Given the description of an element on the screen output the (x, y) to click on. 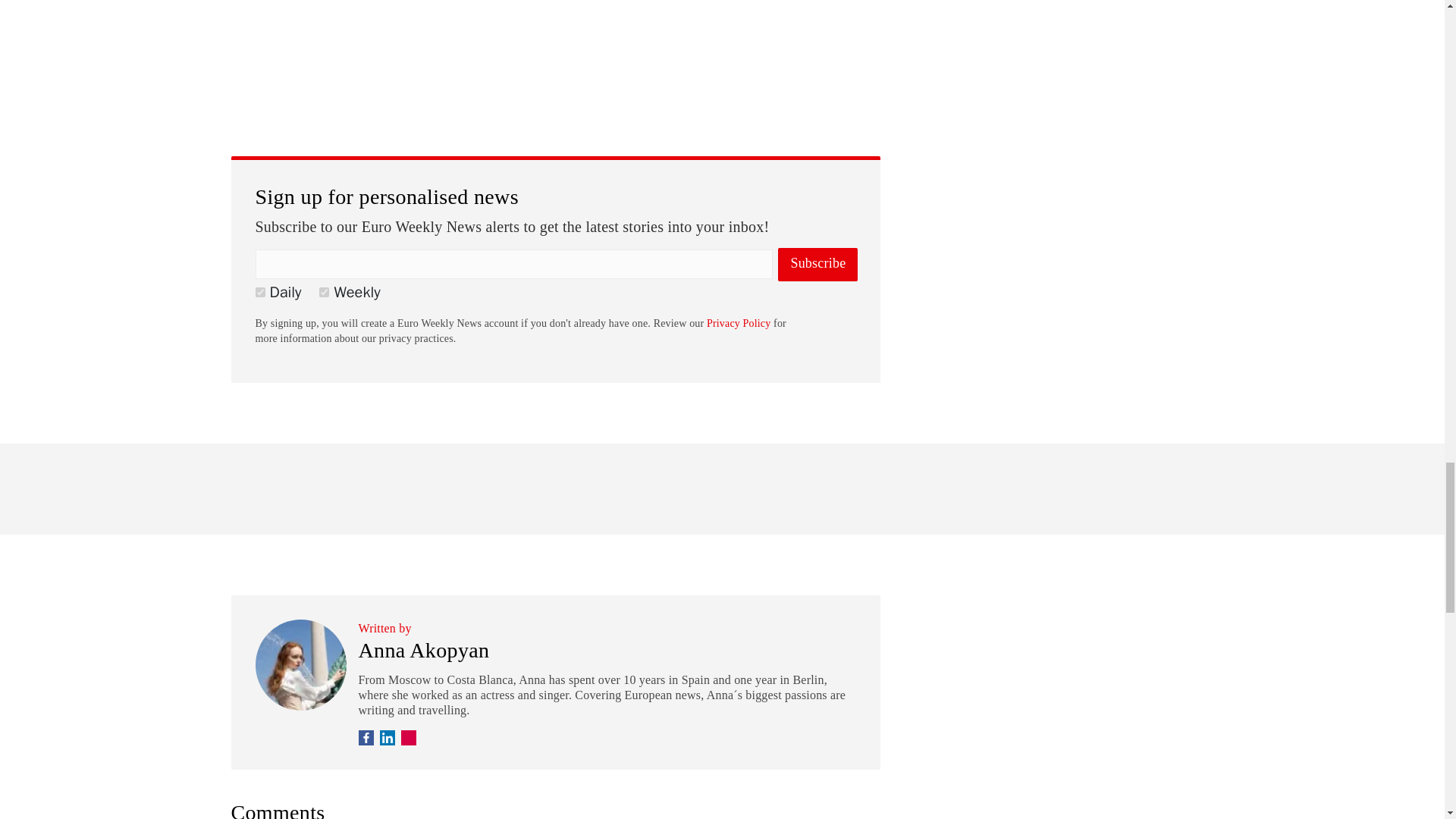
7 (323, 292)
6 (259, 292)
Subscribe (817, 264)
